Given the description of an element on the screen output the (x, y) to click on. 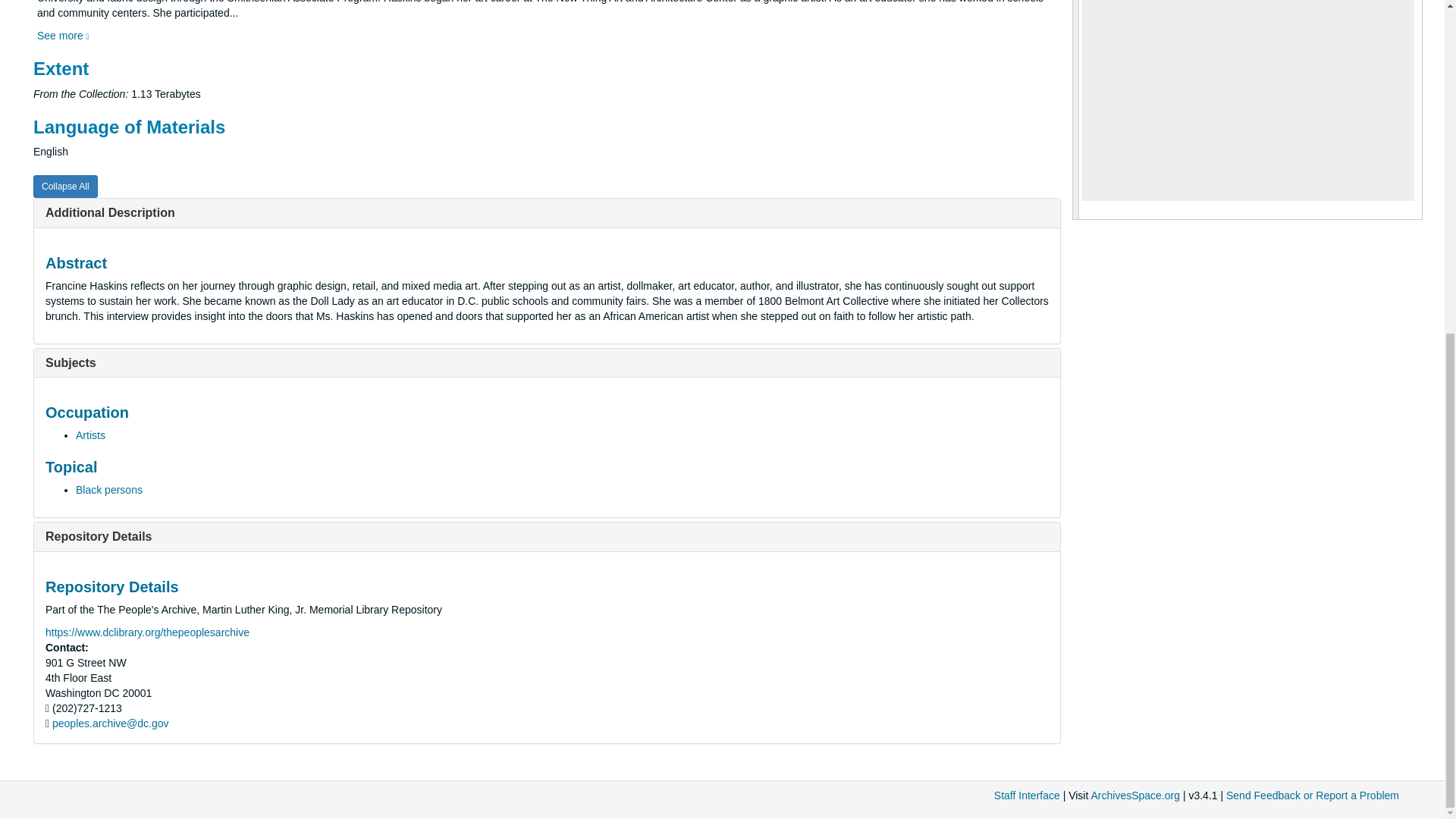
Send email (110, 723)
Send Feedback or Report a Problem (1312, 795)
See more (62, 35)
ArchivesSpace.org (1134, 795)
Subjects (70, 362)
Repository Details (98, 535)
Staff Interface (1026, 795)
Additional Description (109, 212)
Black persons (108, 490)
Collapse All (65, 186)
